Given the description of an element on the screen output the (x, y) to click on. 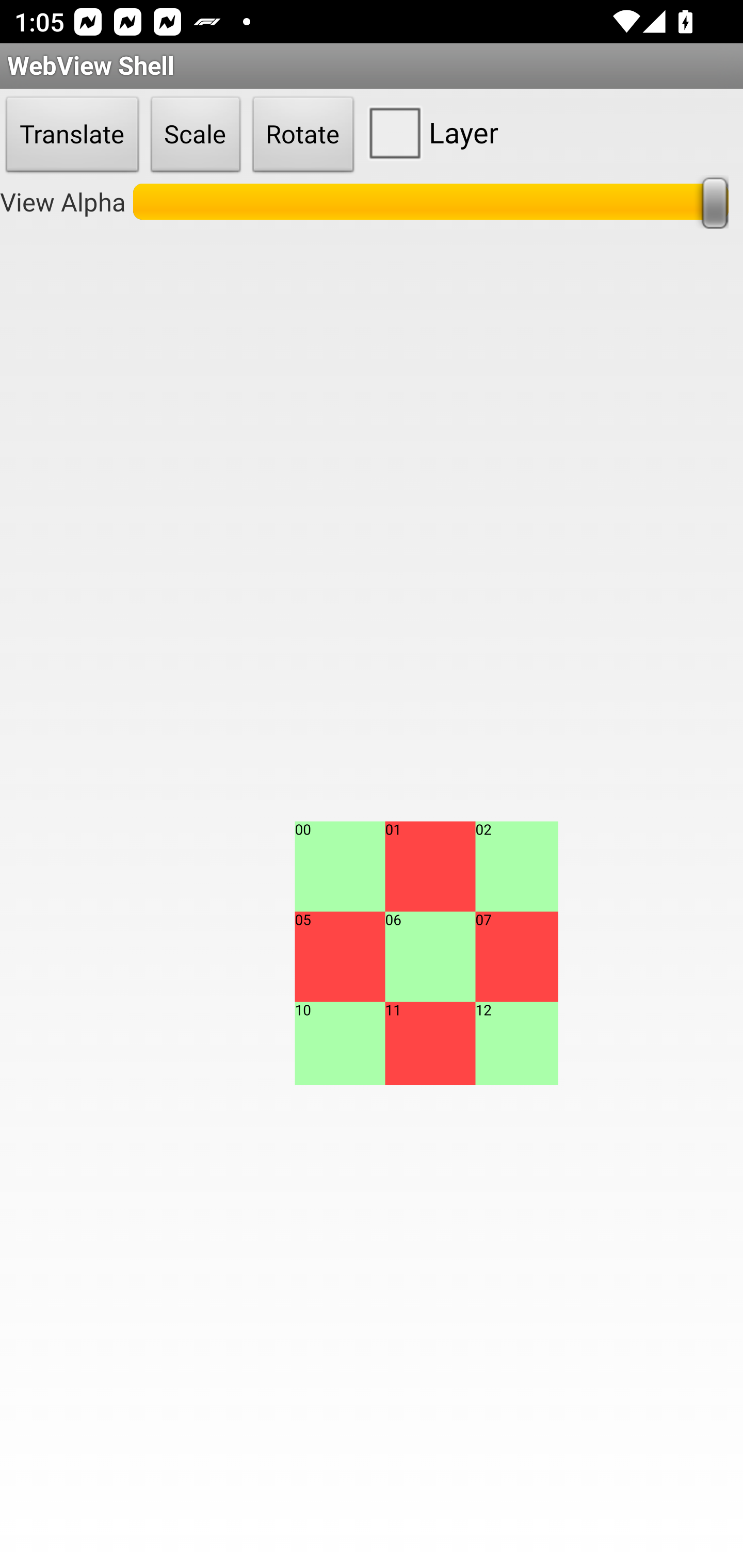
Layer (429, 132)
Translate (72, 135)
Scale (195, 135)
Rotate (303, 135)
